Given the description of an element on the screen output the (x, y) to click on. 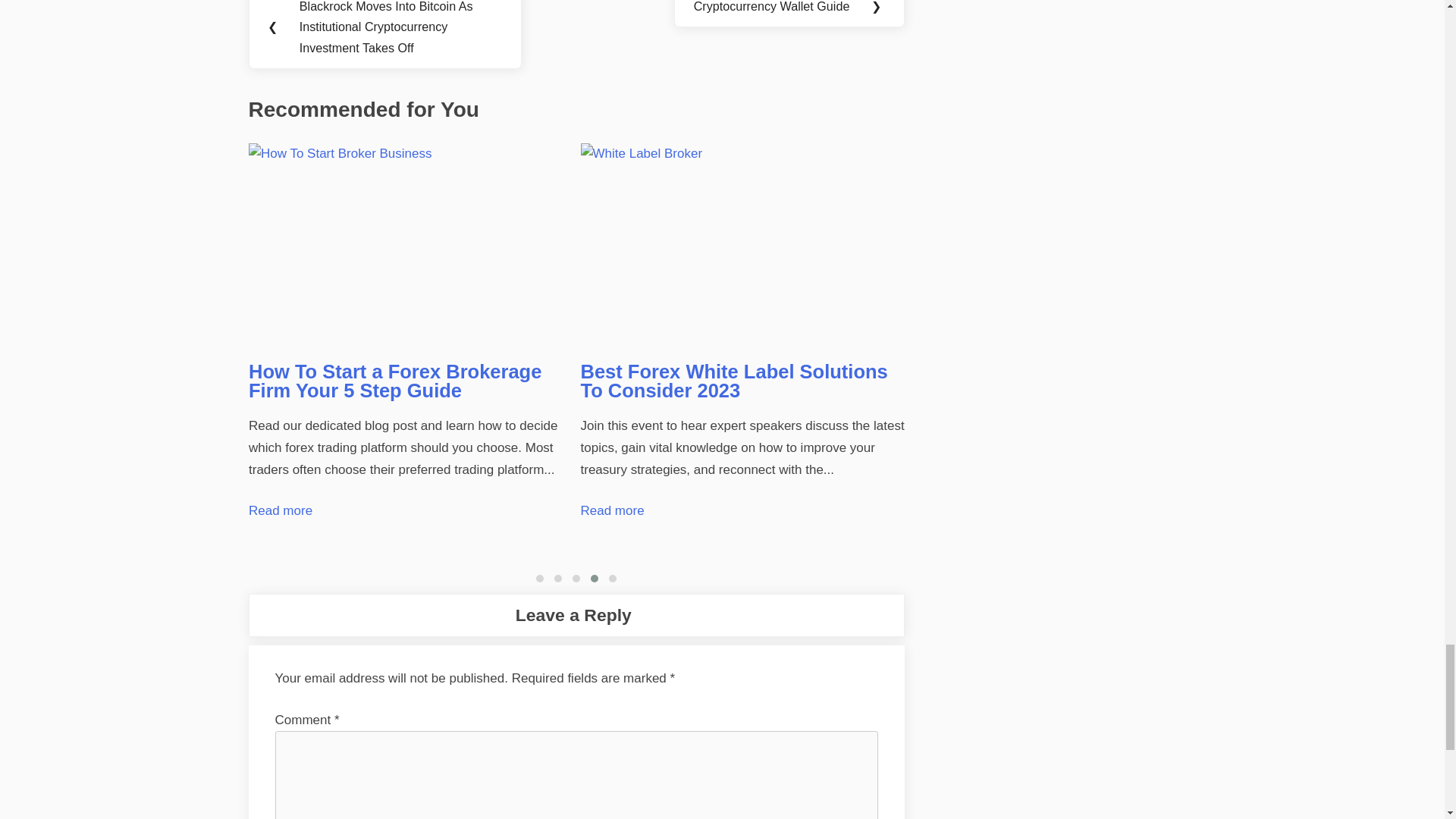
Best Forex White Label Solutions To Consider 2023 (742, 245)
How To Start a Forex Brokerage Firm Your 5 Step Guide (410, 245)
